Given the description of an element on the screen output the (x, y) to click on. 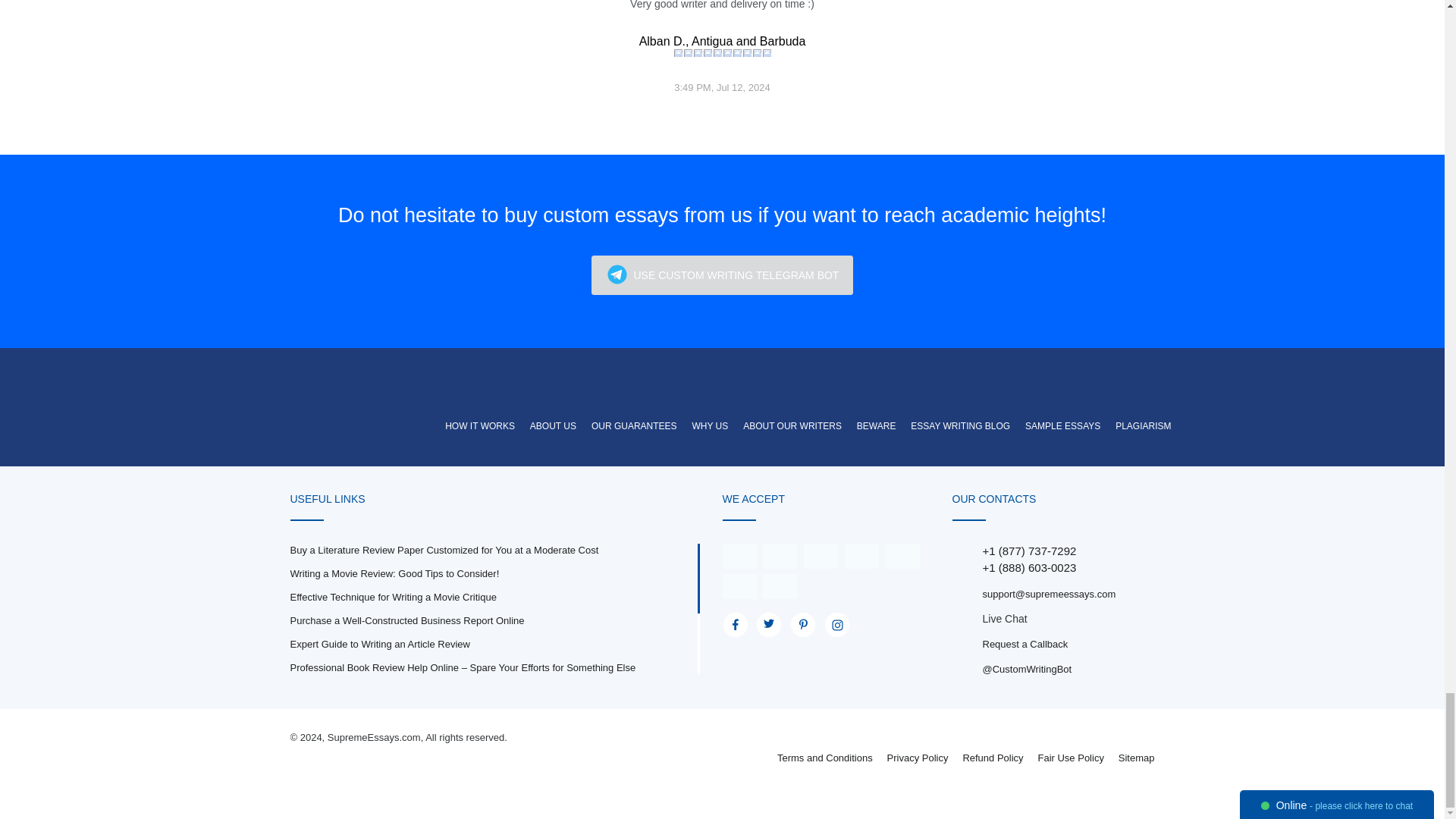
Credit cards by American Express (820, 554)
Credit cards by Diners Club (738, 585)
Apple pay (861, 554)
Credit cards by JCB (779, 585)
Credit and debit cards by MasterCard (779, 554)
Supremeessays.com (374, 390)
Credit cards by Discover (902, 554)
Credit and debit cards by Visa (738, 554)
